Given the description of an element on the screen output the (x, y) to click on. 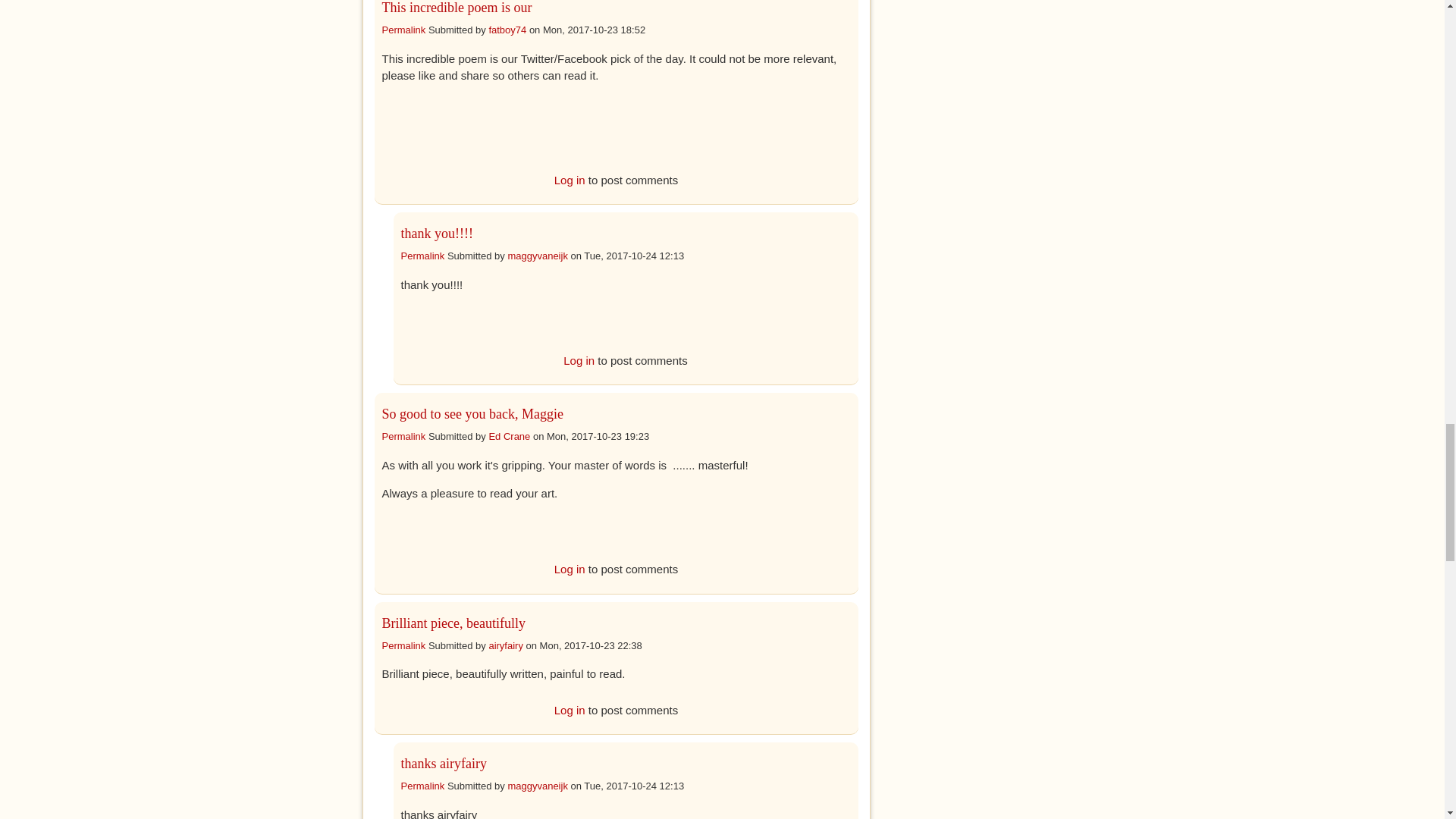
View user profile. (536, 255)
Log in (578, 359)
View user profile. (506, 30)
View user profile. (508, 436)
Permalink (422, 255)
Permalink (403, 436)
This incredible poem is our (456, 7)
Log in (569, 178)
So good to see you back, Maggie (472, 413)
thank you!!!! (435, 233)
